Given the description of an element on the screen output the (x, y) to click on. 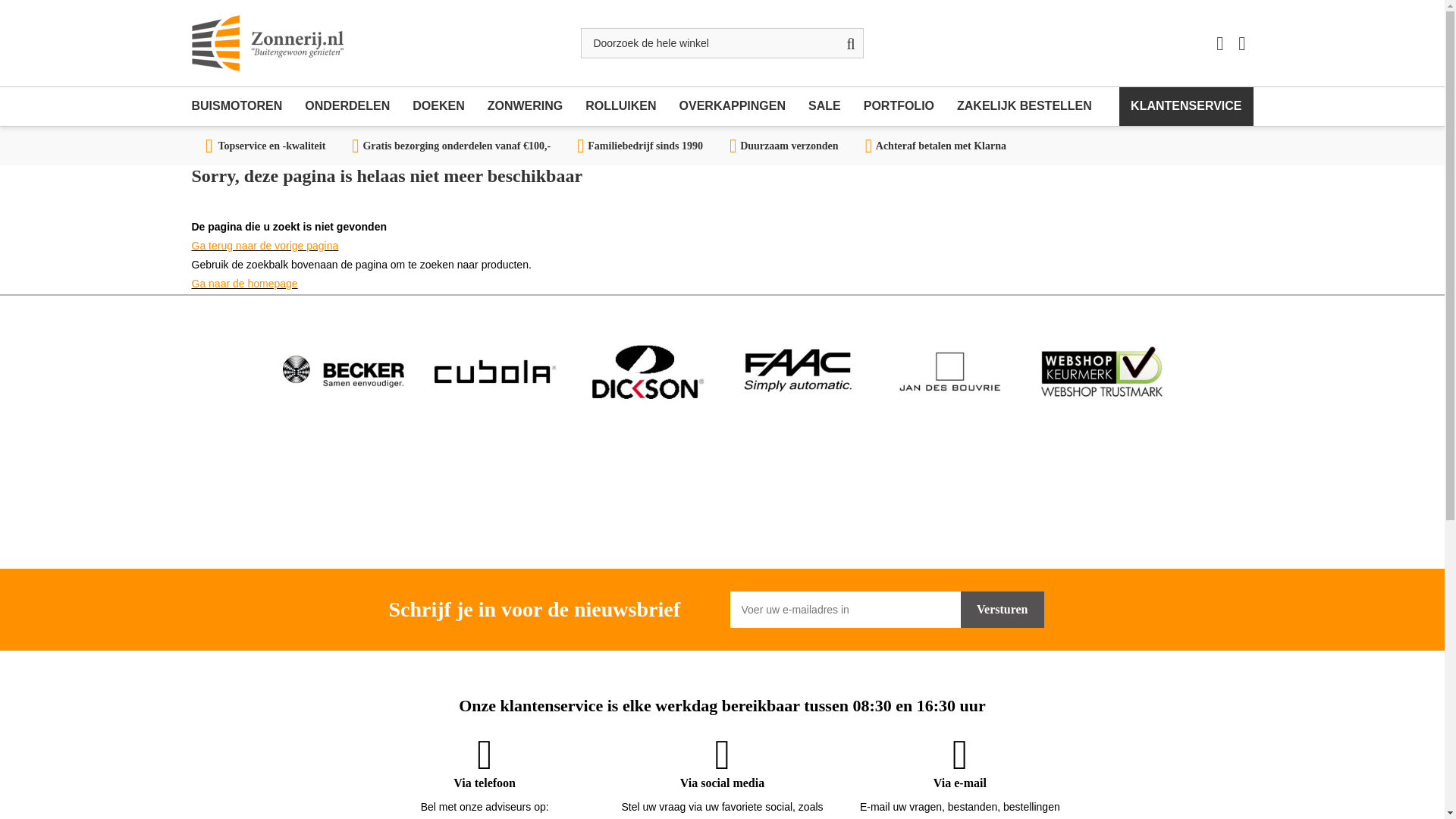
ONDERDELEN (347, 106)
Zonnerij.nl (266, 42)
Onderdelen (347, 106)
Buismotoren (242, 106)
BUISMOTOREN (242, 106)
Zonnerij.nl (266, 43)
